Given the description of an element on the screen output the (x, y) to click on. 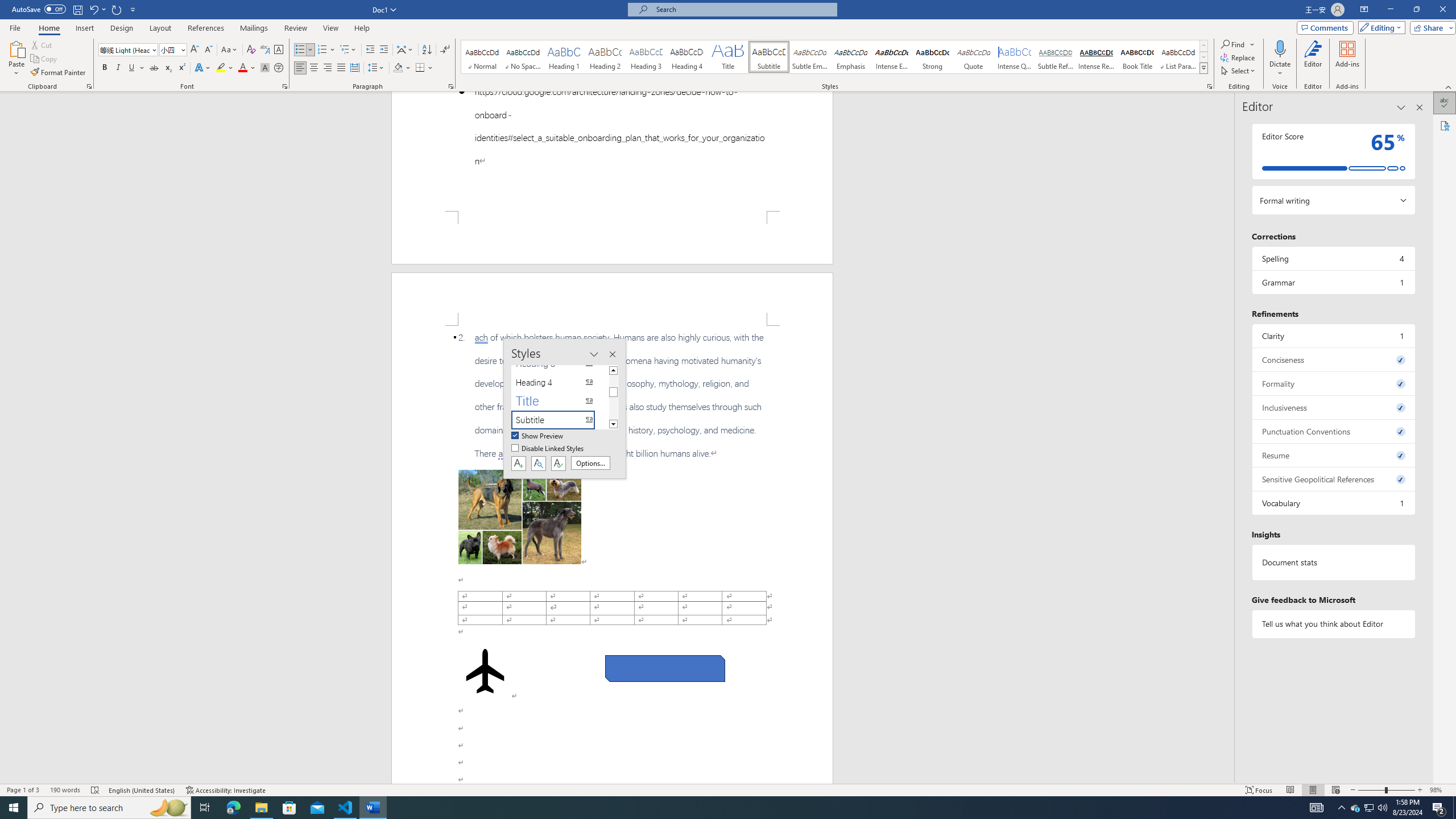
Select (1238, 69)
Emphasis (849, 56)
Phonetic Guide... (264, 49)
Spelling, 4 issues. Press space or enter to review items. (1333, 258)
Character Shading (264, 67)
Row up (1203, 45)
